Given the description of an element on the screen output the (x, y) to click on. 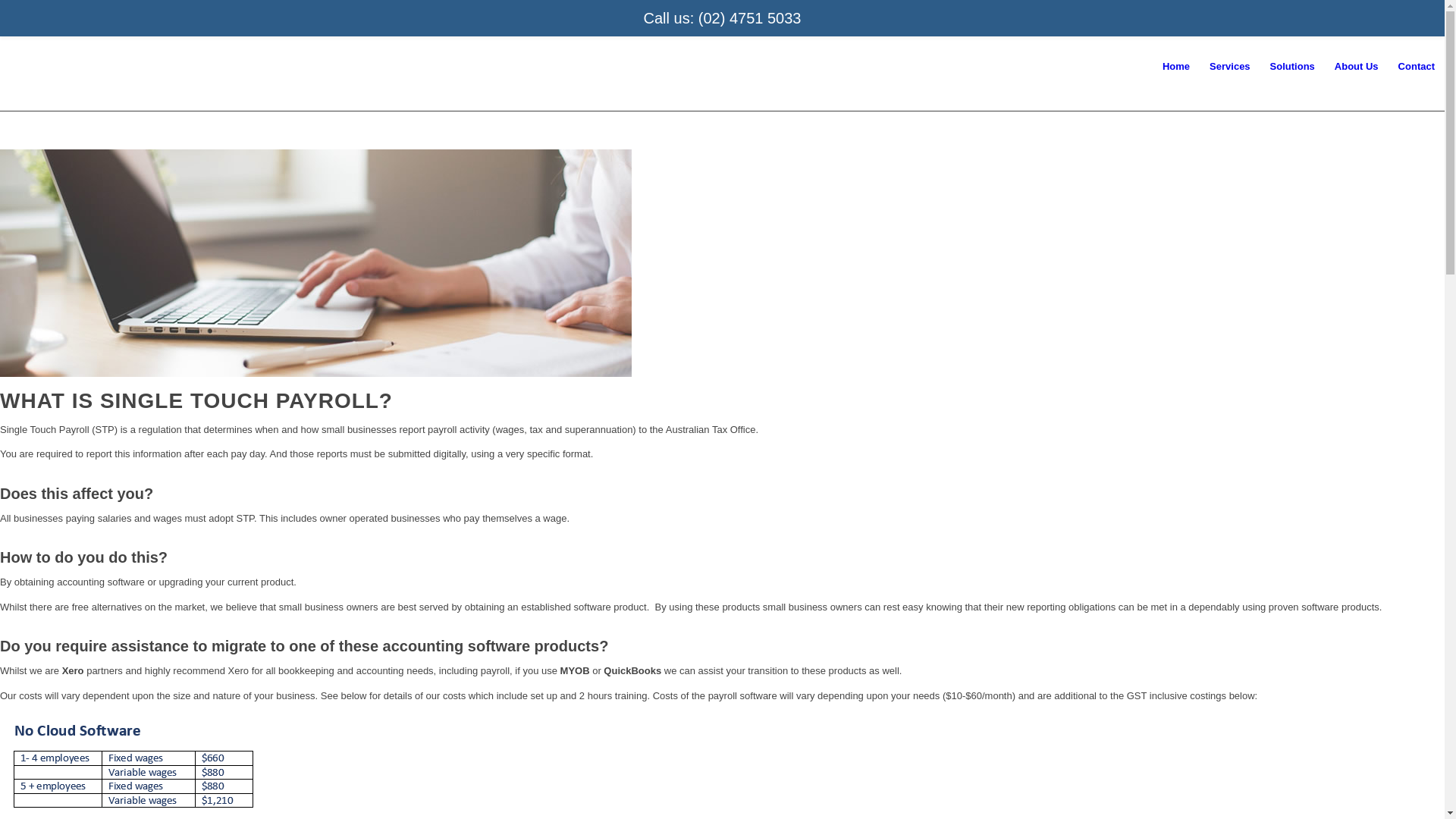
(02) 4751 5033 Element type: text (749, 17)
Contact Element type: text (1416, 66)
Services Element type: text (1229, 66)
Solutions Element type: text (1292, 66)
Home Element type: text (1175, 66)
About Us Element type: text (1356, 66)
